Given the description of an element on the screen output the (x, y) to click on. 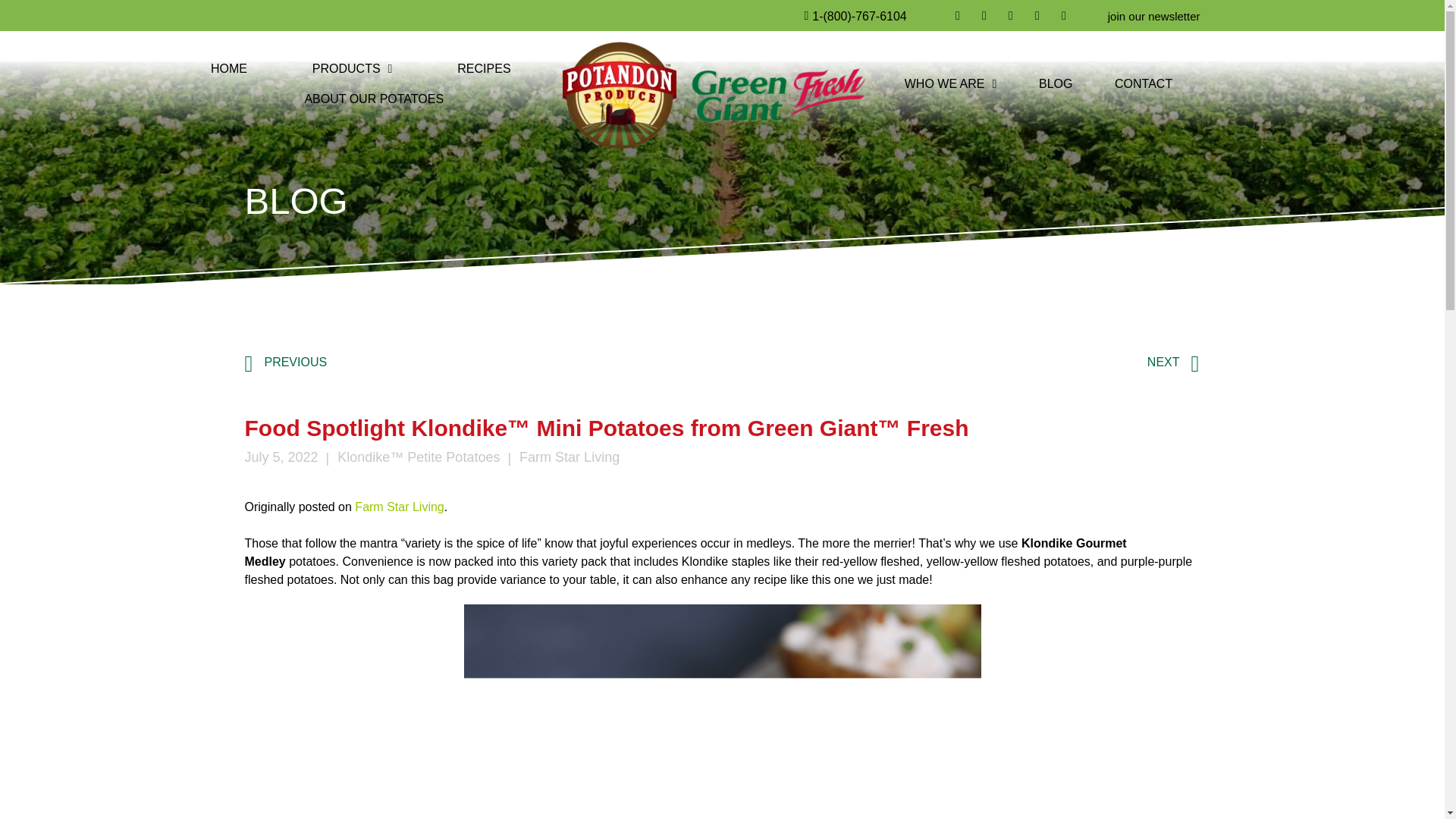
ABOUT OUR POTATOES (374, 99)
RECIPES (483, 69)
PRODUCTS (352, 69)
HOME (228, 69)
join our newsletter (1153, 16)
